Given the description of an element on the screen output the (x, y) to click on. 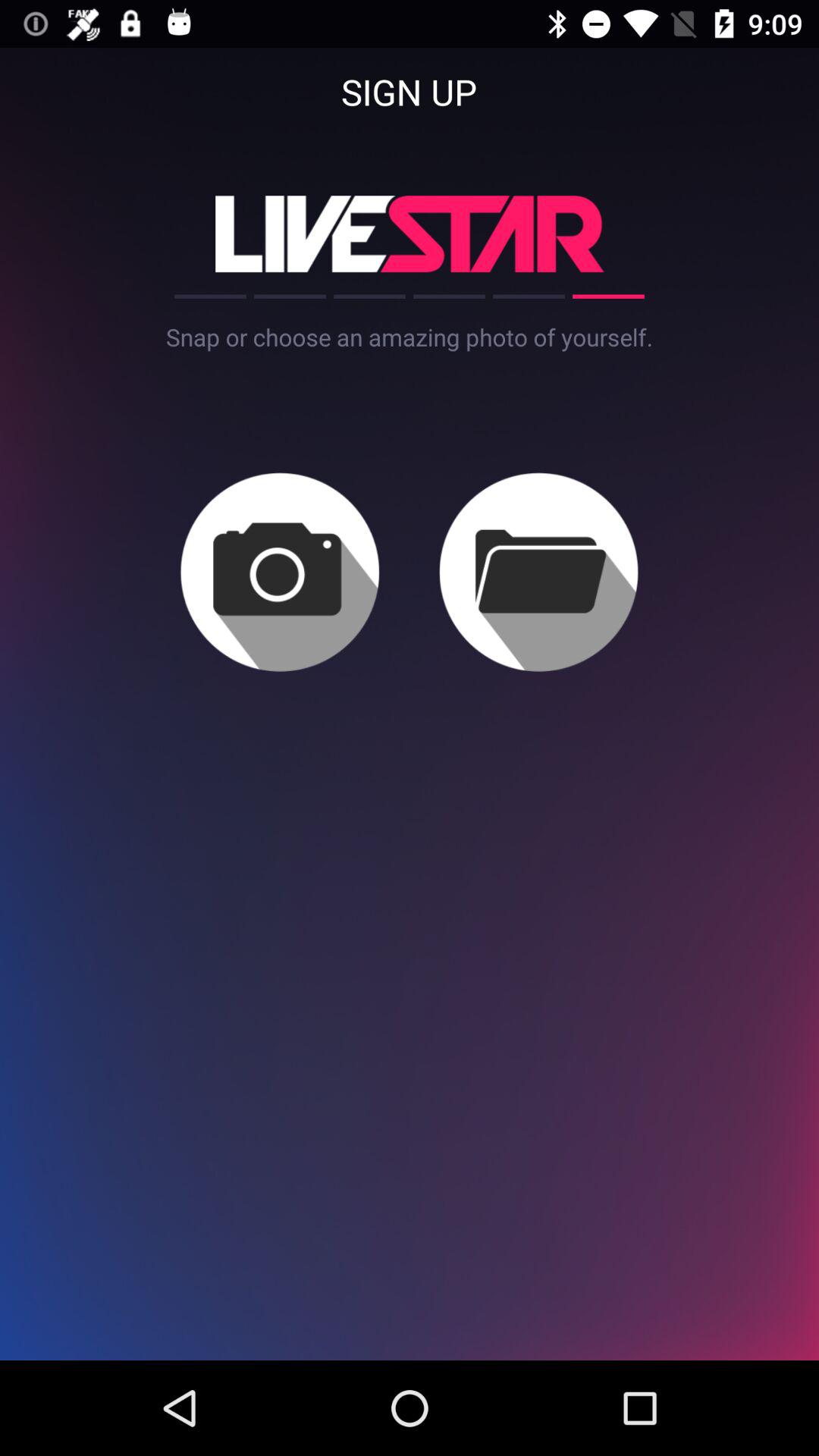
turn off icon below the snap or choose item (538, 571)
